Given the description of an element on the screen output the (x, y) to click on. 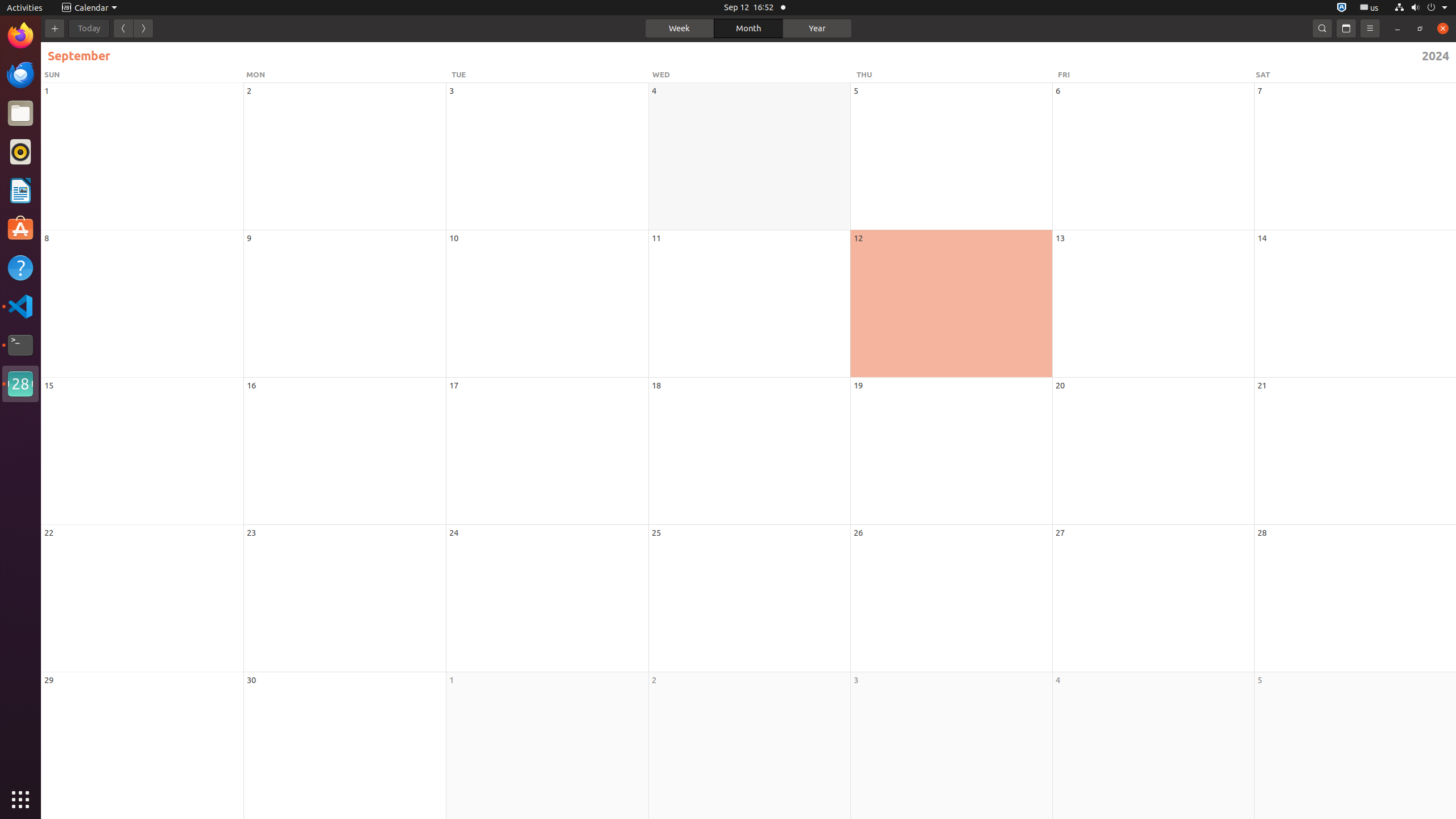
4 Element type: label (1057, 679)
30 Element type: label (250, 679)
1 Element type: label (451, 679)
Calendar Element type: push-button (20, 383)
